Given the description of an element on the screen output the (x, y) to click on. 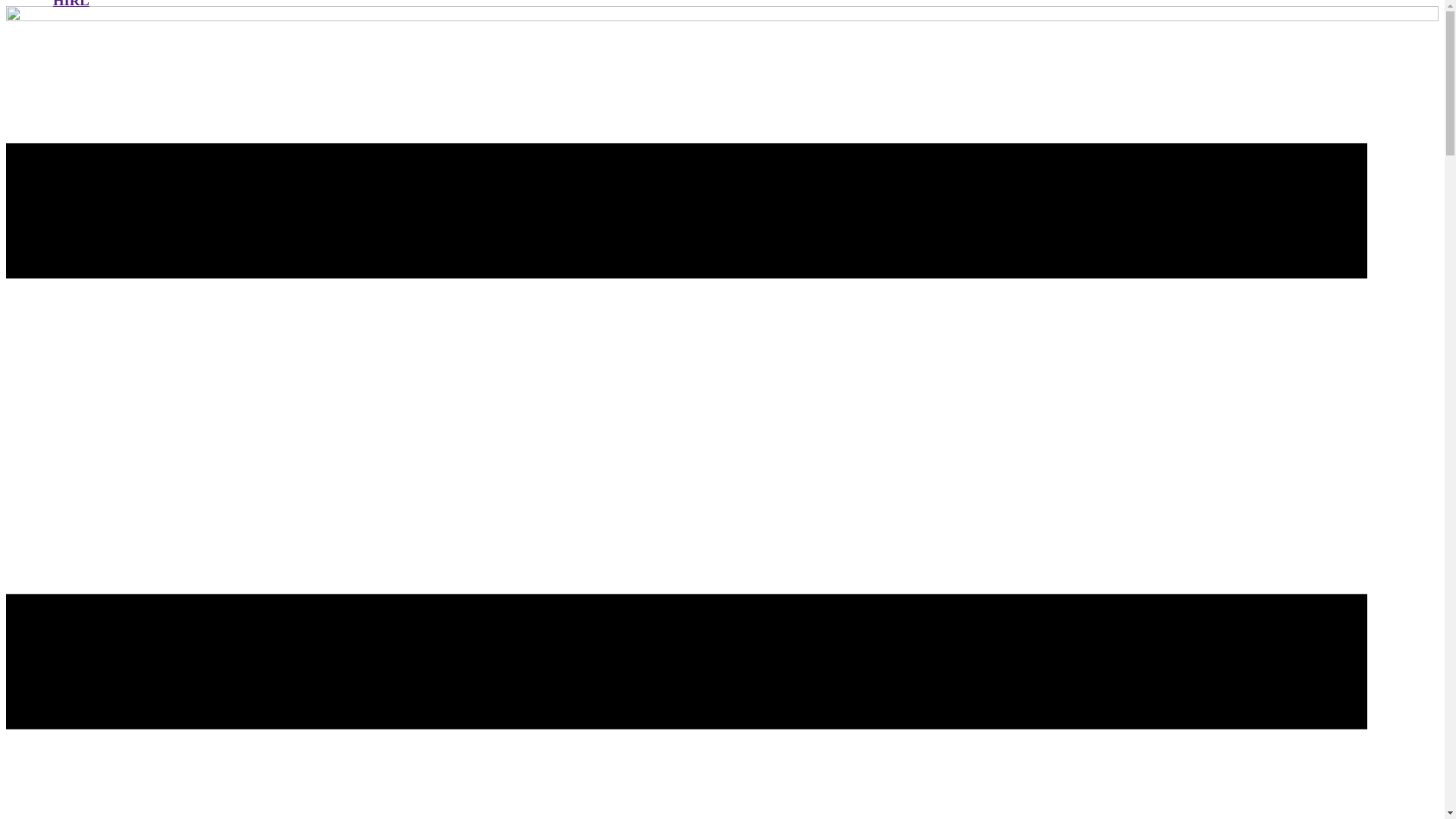
Home Element type: hover (722, 16)
